Given the description of an element on the screen output the (x, y) to click on. 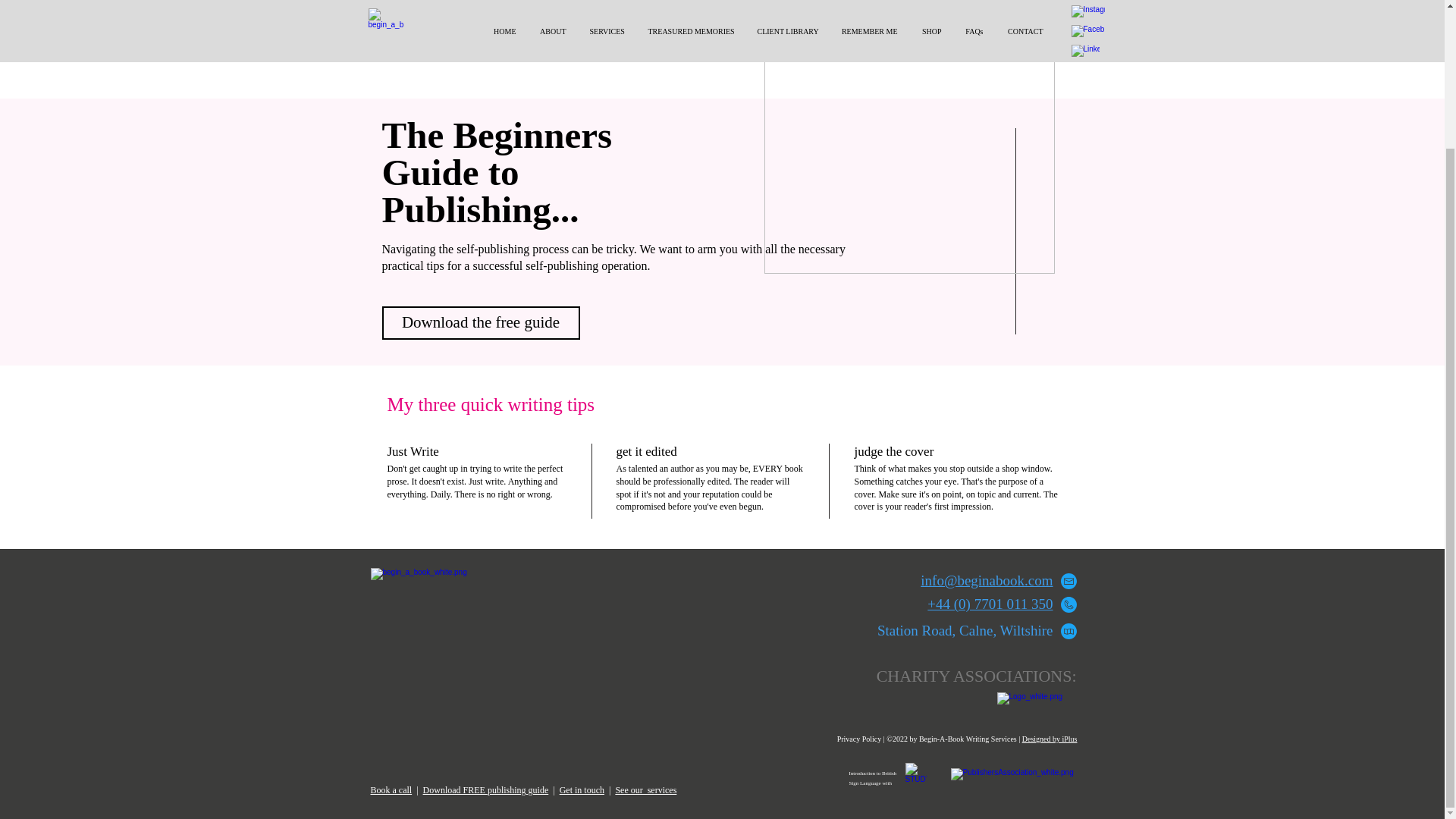
Get in touch (581, 789)
Download the free guide (480, 322)
Book a call (390, 789)
See our  services (645, 789)
Designed by iPlus (1049, 738)
Introduction to British Sign Language with (872, 777)
Download FREE publishing guide (485, 789)
